Given the description of an element on the screen output the (x, y) to click on. 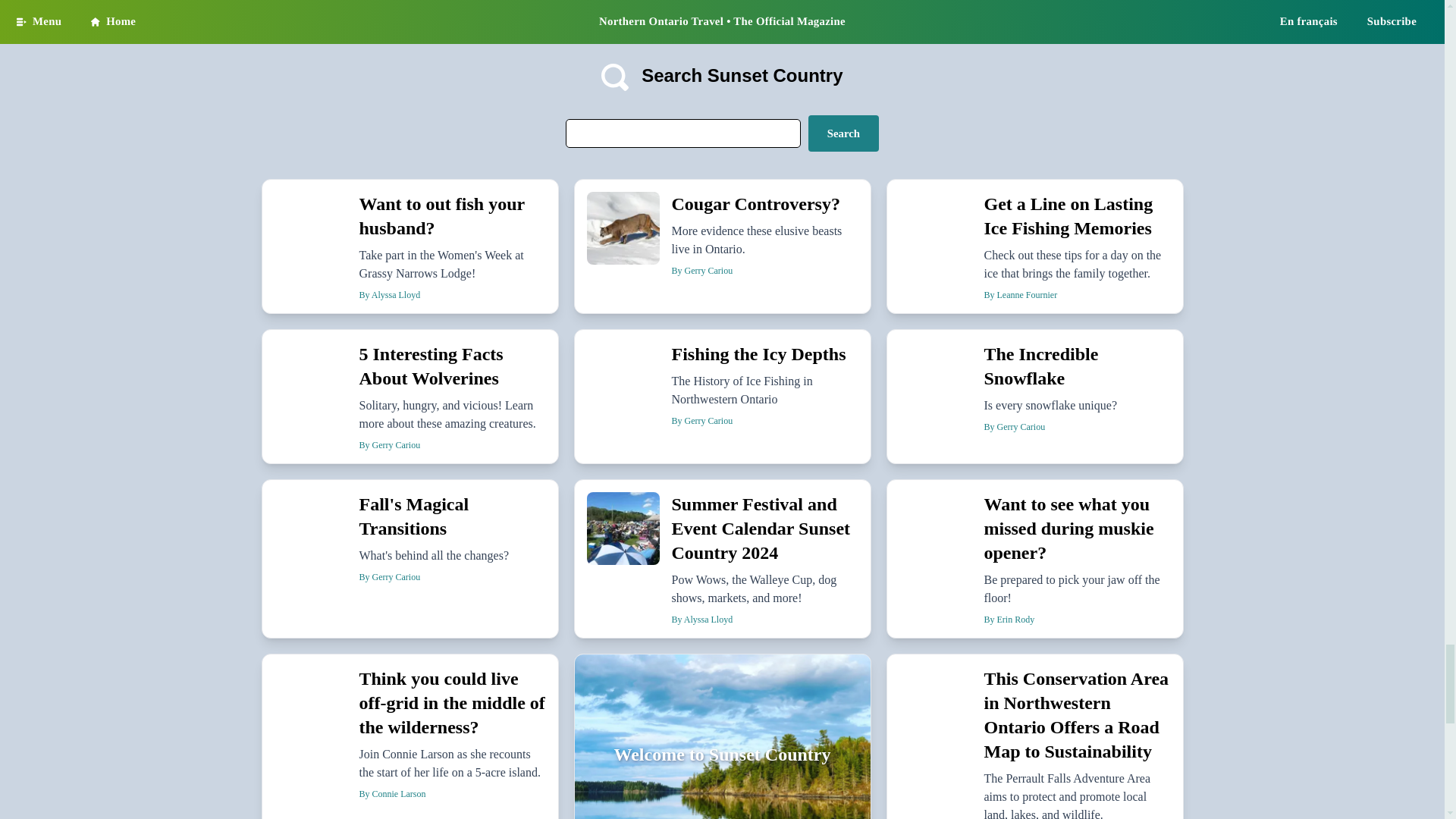
Search (843, 133)
